Given the description of an element on the screen output the (x, y) to click on. 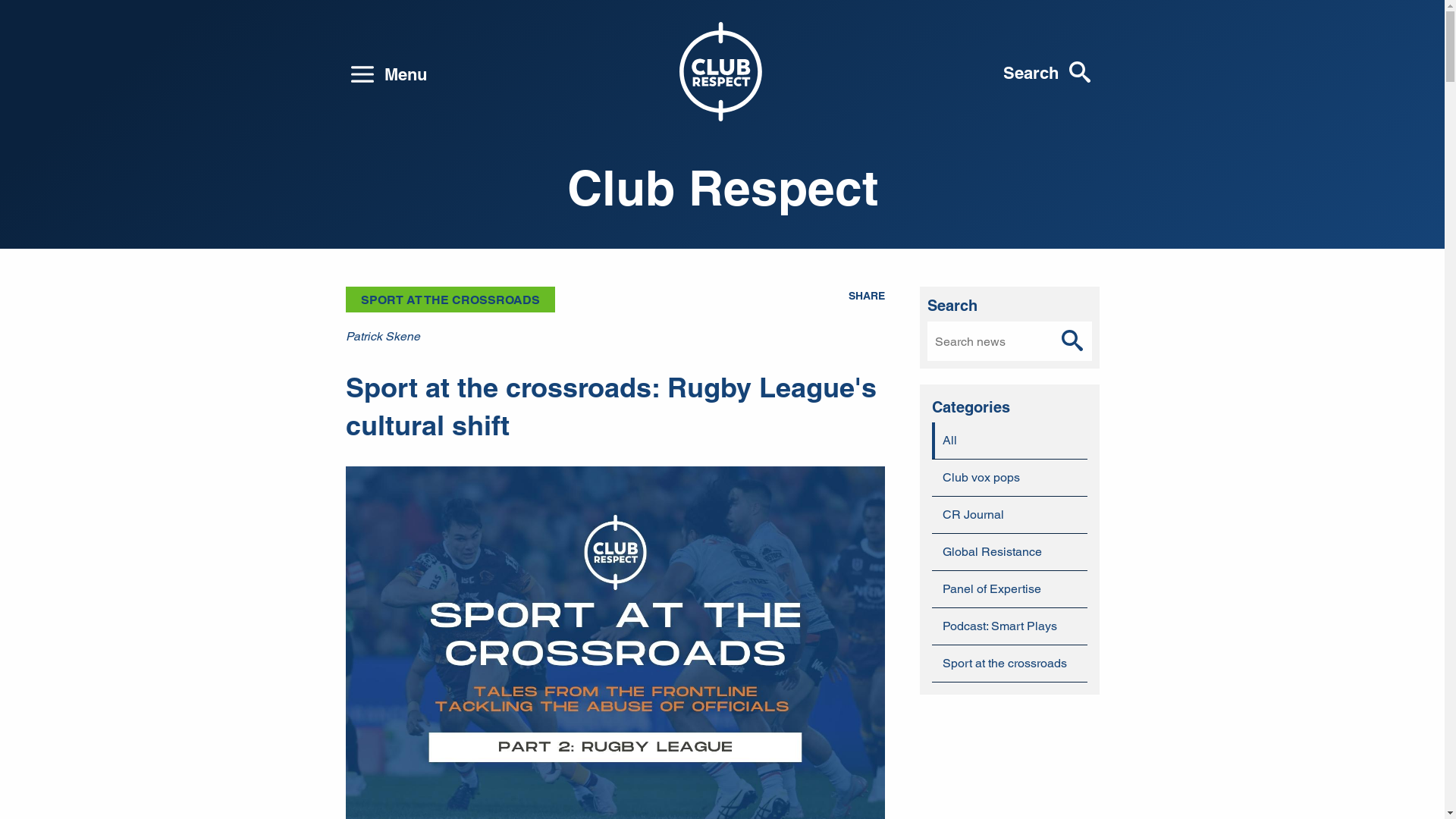
Club vox pops Element type: text (1009, 477)
SPORT AT THE CROSSROADS Element type: text (450, 299)
Search Element type: text (1072, 340)
Search Element type: text (1046, 74)
Sport at the crossroads Element type: text (1009, 663)
Panel of Expertise Element type: text (1009, 589)
CR Journal Element type: text (1009, 514)
All Element type: text (1009, 440)
Patrick Skene Element type: text (382, 336)
Podcast: Smart Plays Element type: text (1009, 626)
Menu Element type: text (388, 73)
Global Resistance Element type: text (1009, 551)
